Given the description of an element on the screen output the (x, y) to click on. 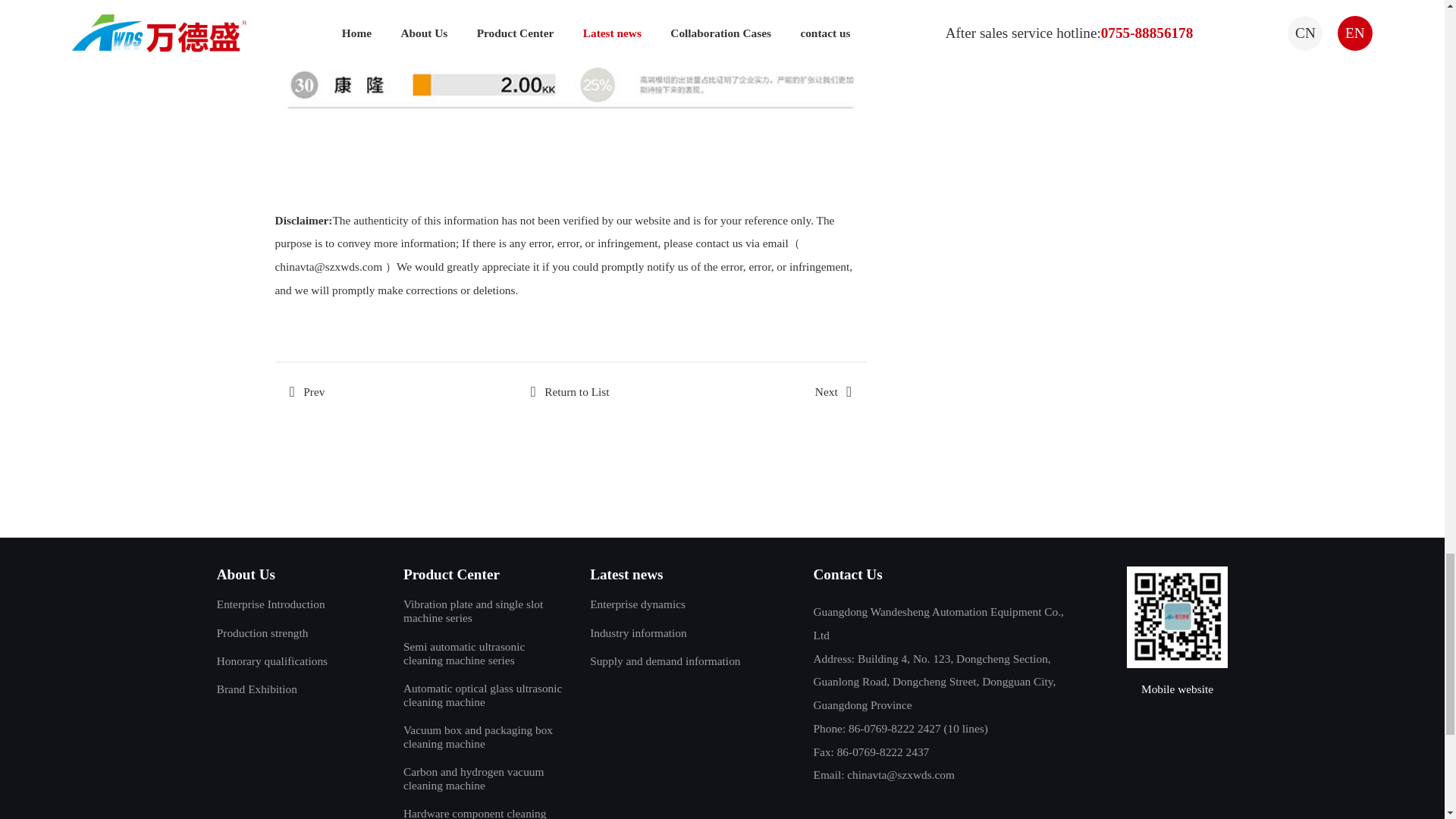
Return to List (569, 391)
Prev (307, 391)
Next (833, 391)
